Given the description of an element on the screen output the (x, y) to click on. 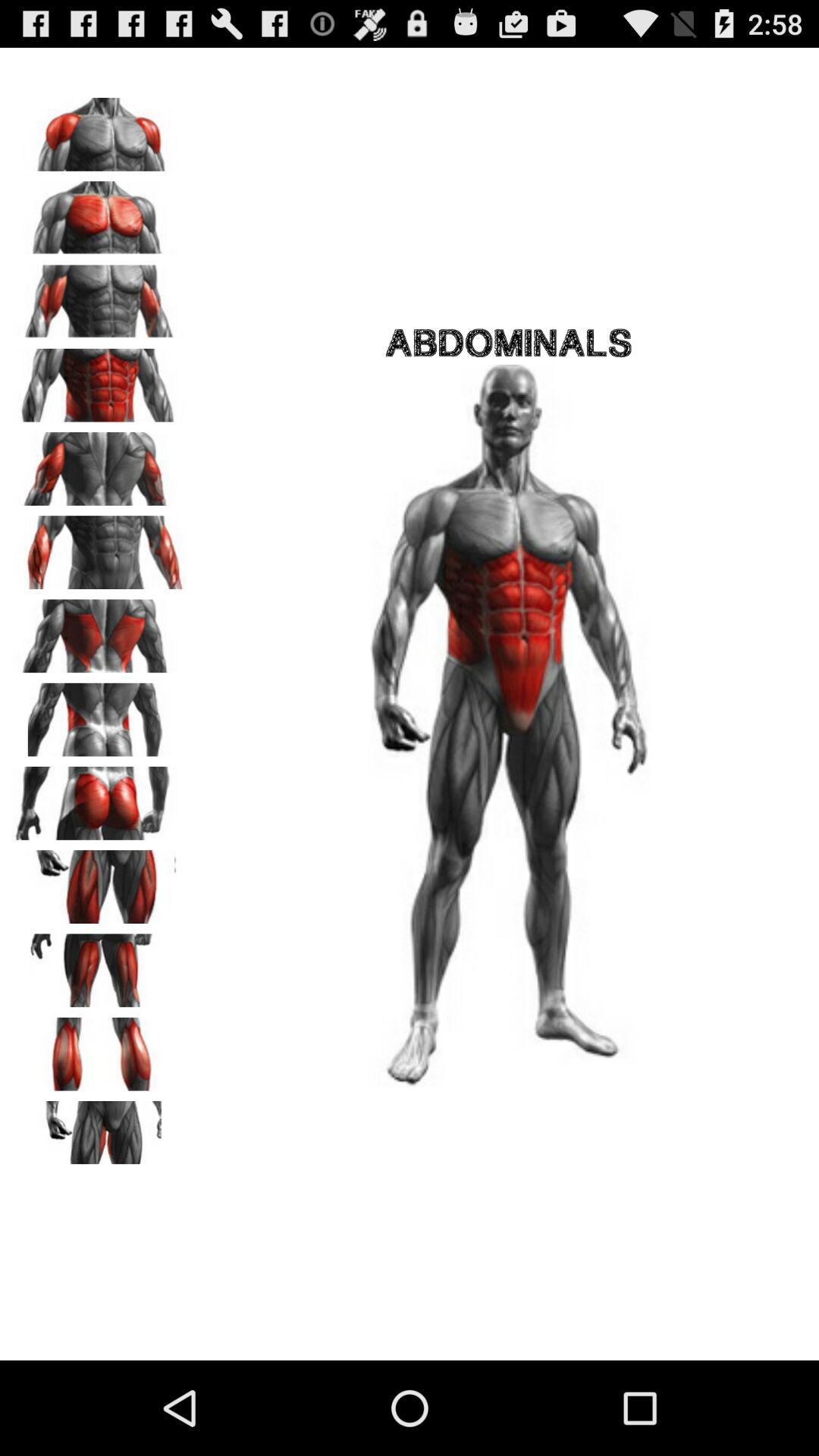
select this picture (99, 714)
